Given the description of an element on the screen output the (x, y) to click on. 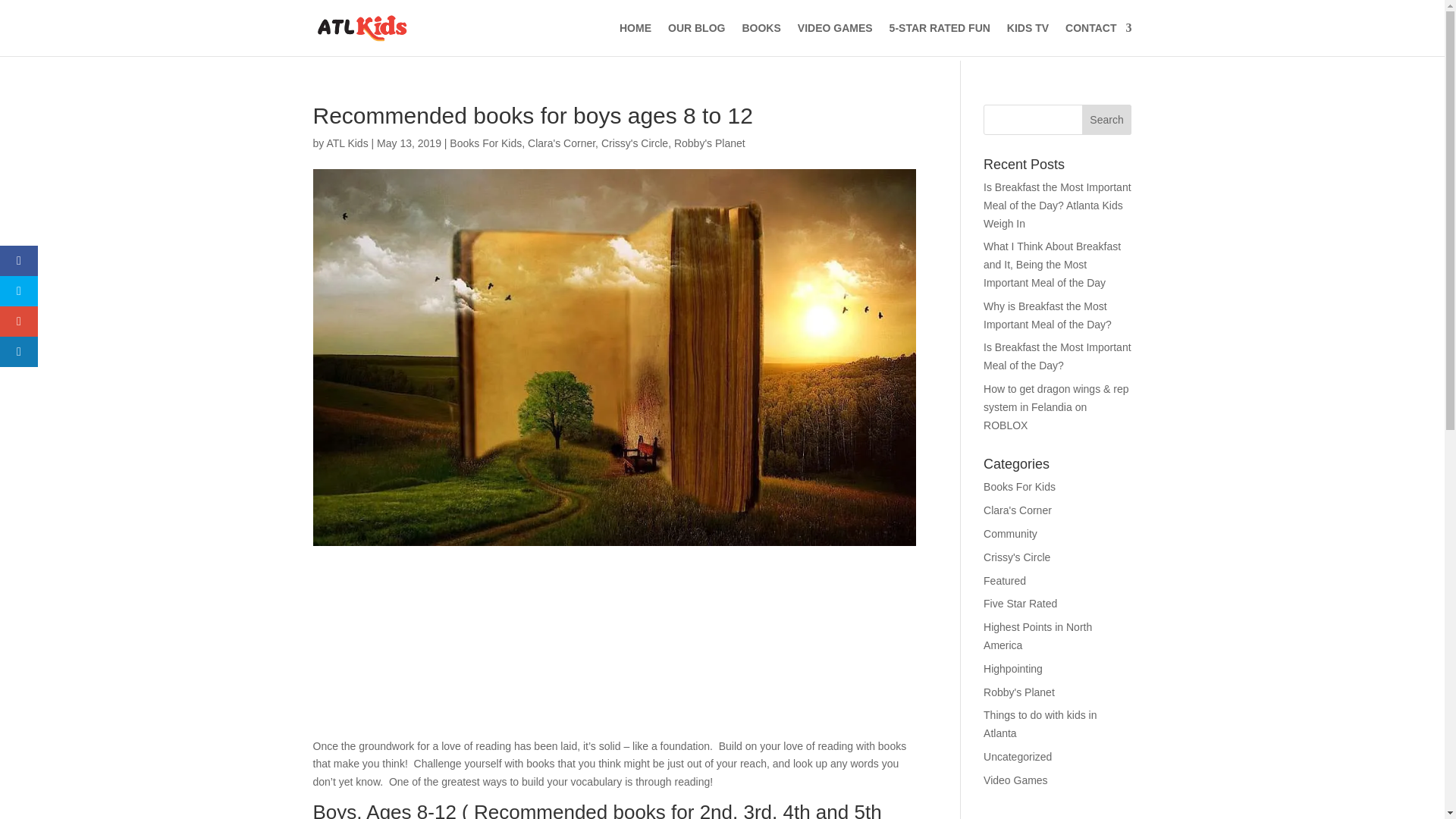
5-STAR RATED FUN (939, 39)
ATL Kids (347, 143)
Featured (1005, 580)
Advertisement (614, 656)
Clara's Corner (561, 143)
Crissy's Circle (1016, 557)
Books For Kids (1019, 486)
OUR BLOG (696, 39)
KIDS TV (1027, 39)
Search (1106, 119)
